Given the description of an element on the screen output the (x, y) to click on. 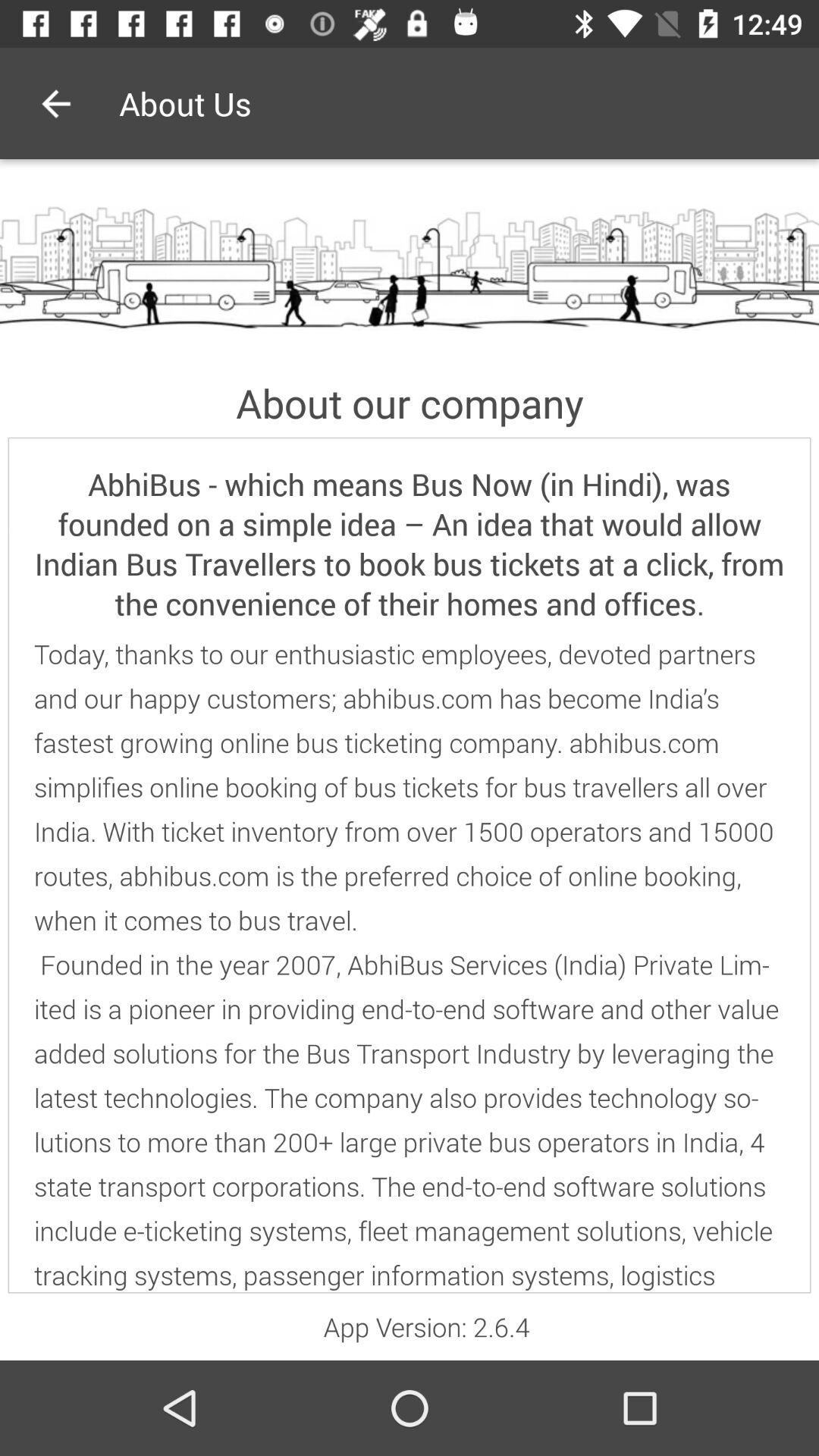
turn off the item below the abhibus which means (409, 964)
